Given the description of an element on the screen output the (x, y) to click on. 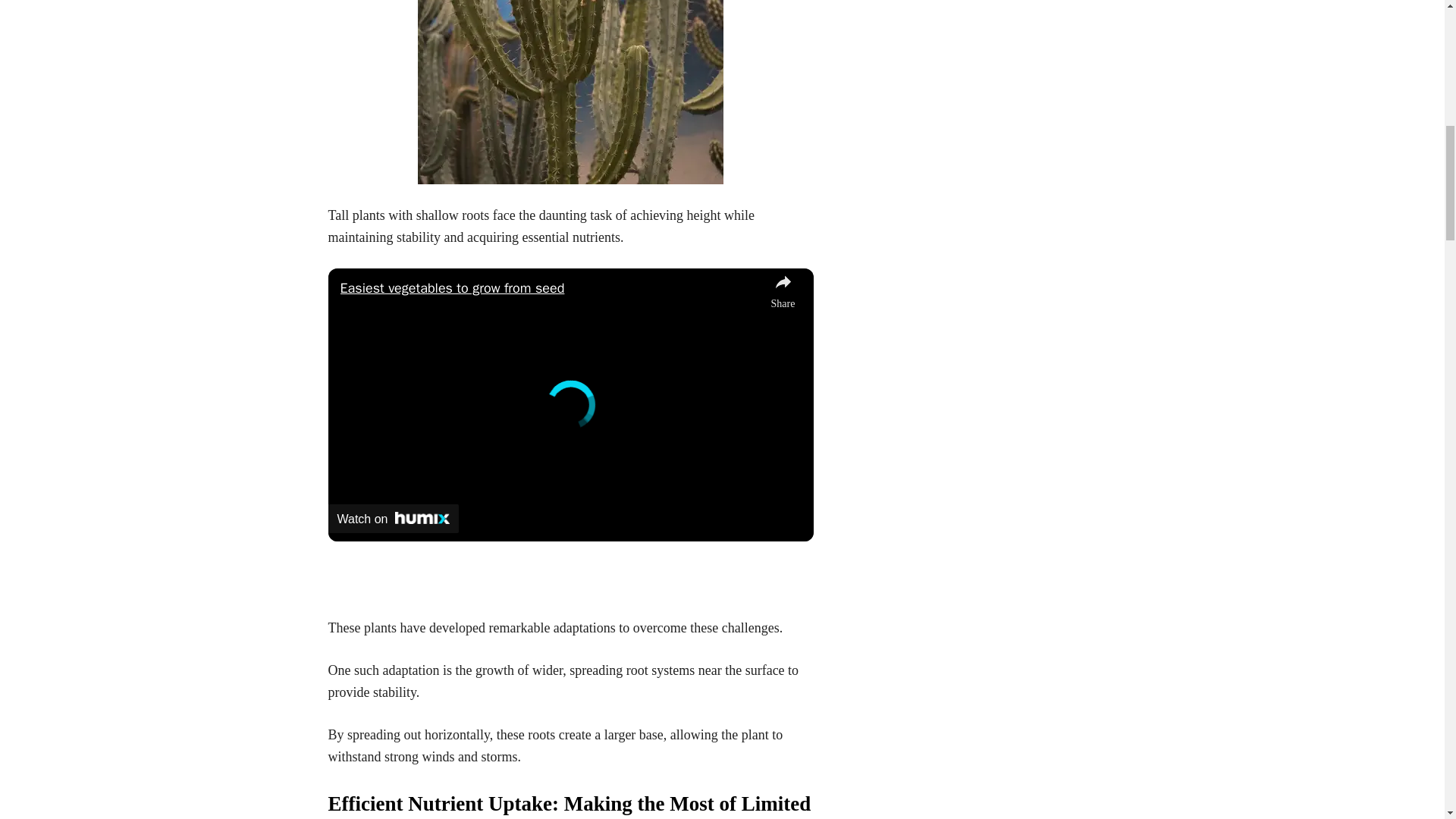
Easiest vegetables to grow from seed (550, 288)
Watch on (392, 518)
